Given the description of an element on the screen output the (x, y) to click on. 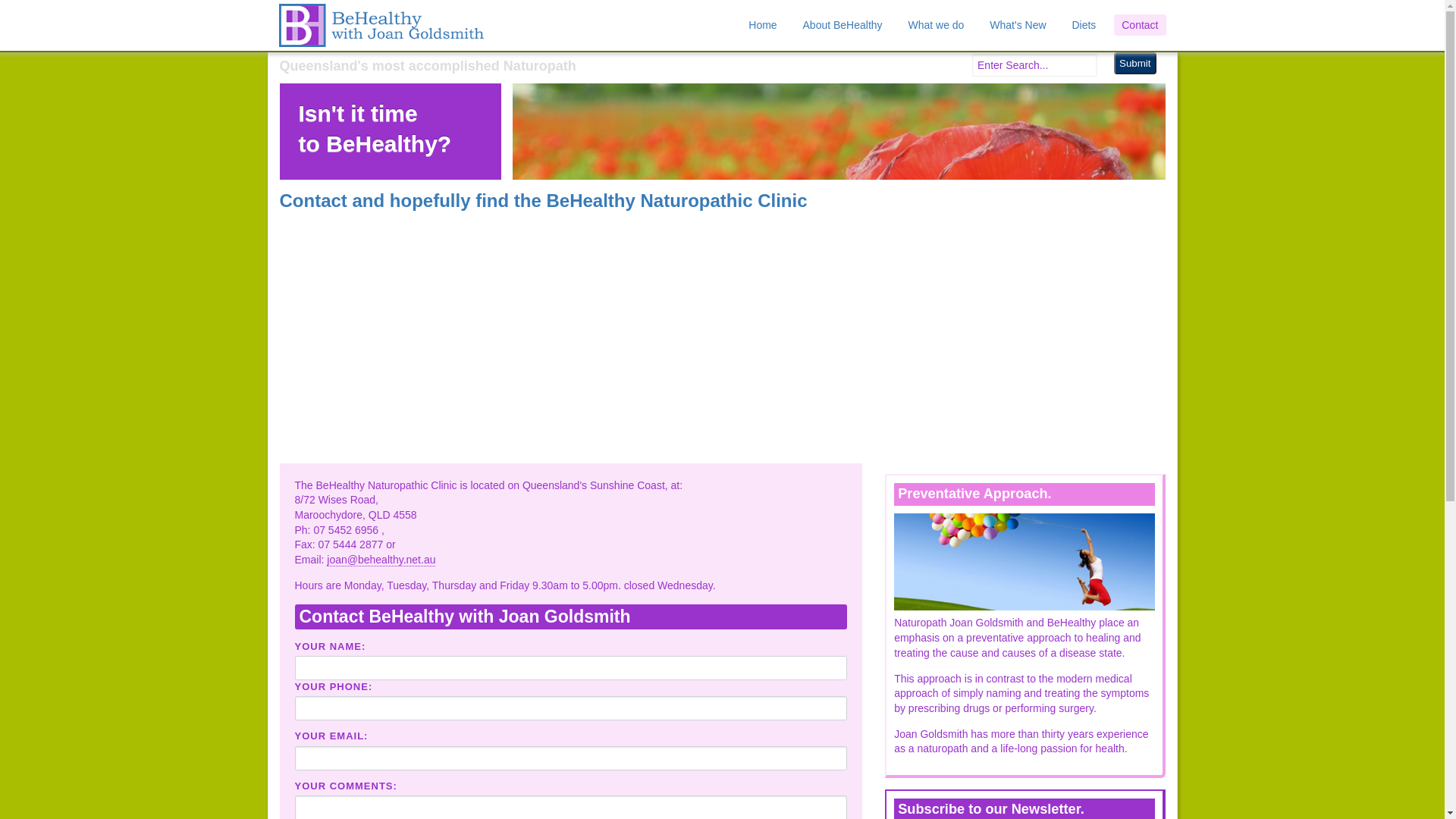
BeHealthy take a preventative approach to healing Element type: hover (1024, 562)
Submit Element type: text (1134, 63)
About BeHealthy Element type: text (842, 24)
What we do Element type: text (935, 24)
Contact Element type: text (1139, 24)
Home Element type: text (762, 24)
BeHealthy with Joan Goldsmith Element type: hover (381, 25)
What's New Element type: text (1017, 24)
joan@behealthy.net.au Element type: text (380, 559)
Diets Element type: text (1083, 24)
Contact and hopefully find the BeHealthy Naturopathic Clinic Element type: hover (838, 246)
